Given the description of an element on the screen output the (x, y) to click on. 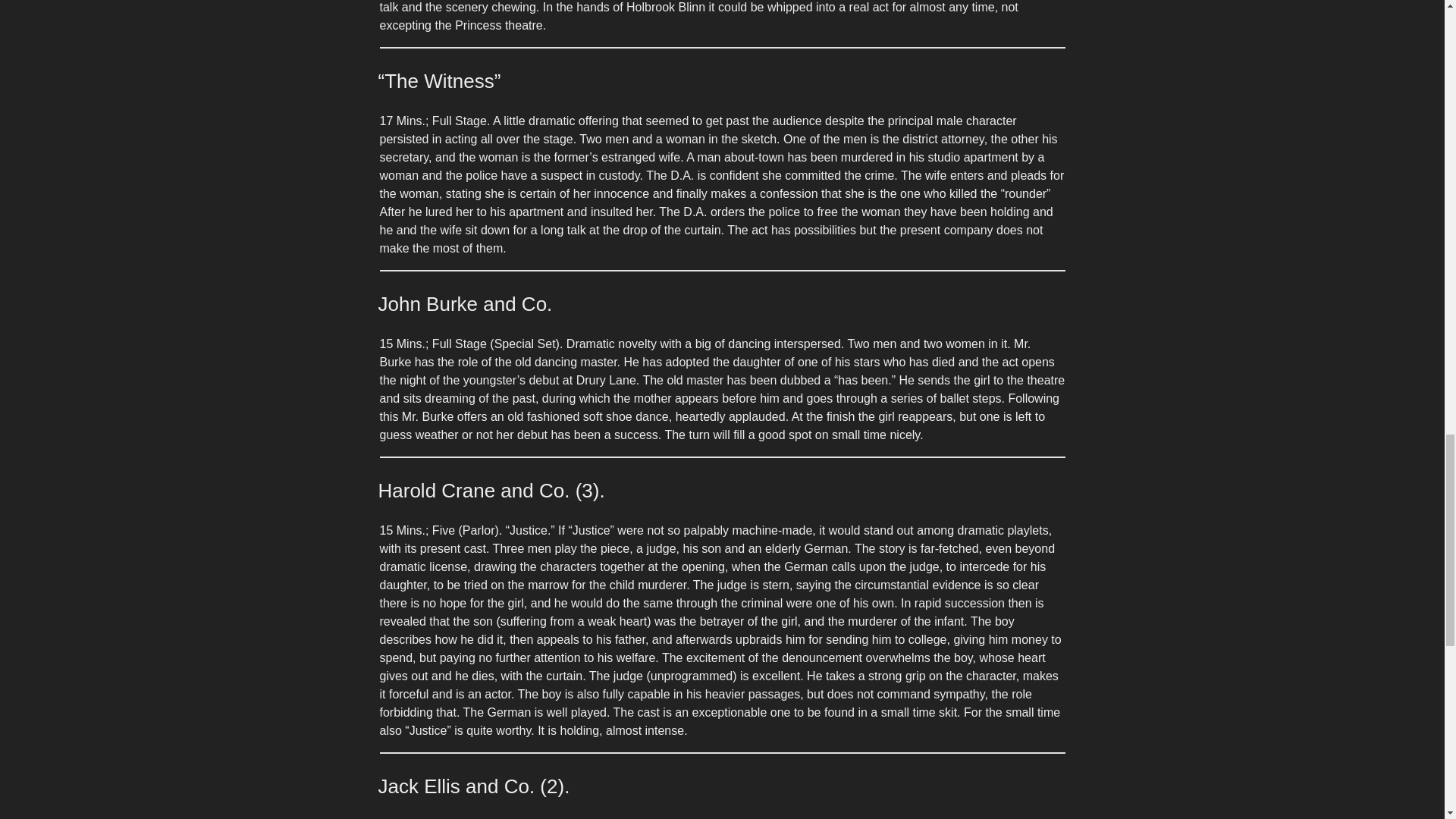
John Burke and Co. (464, 303)
